Given the description of an element on the screen output the (x, y) to click on. 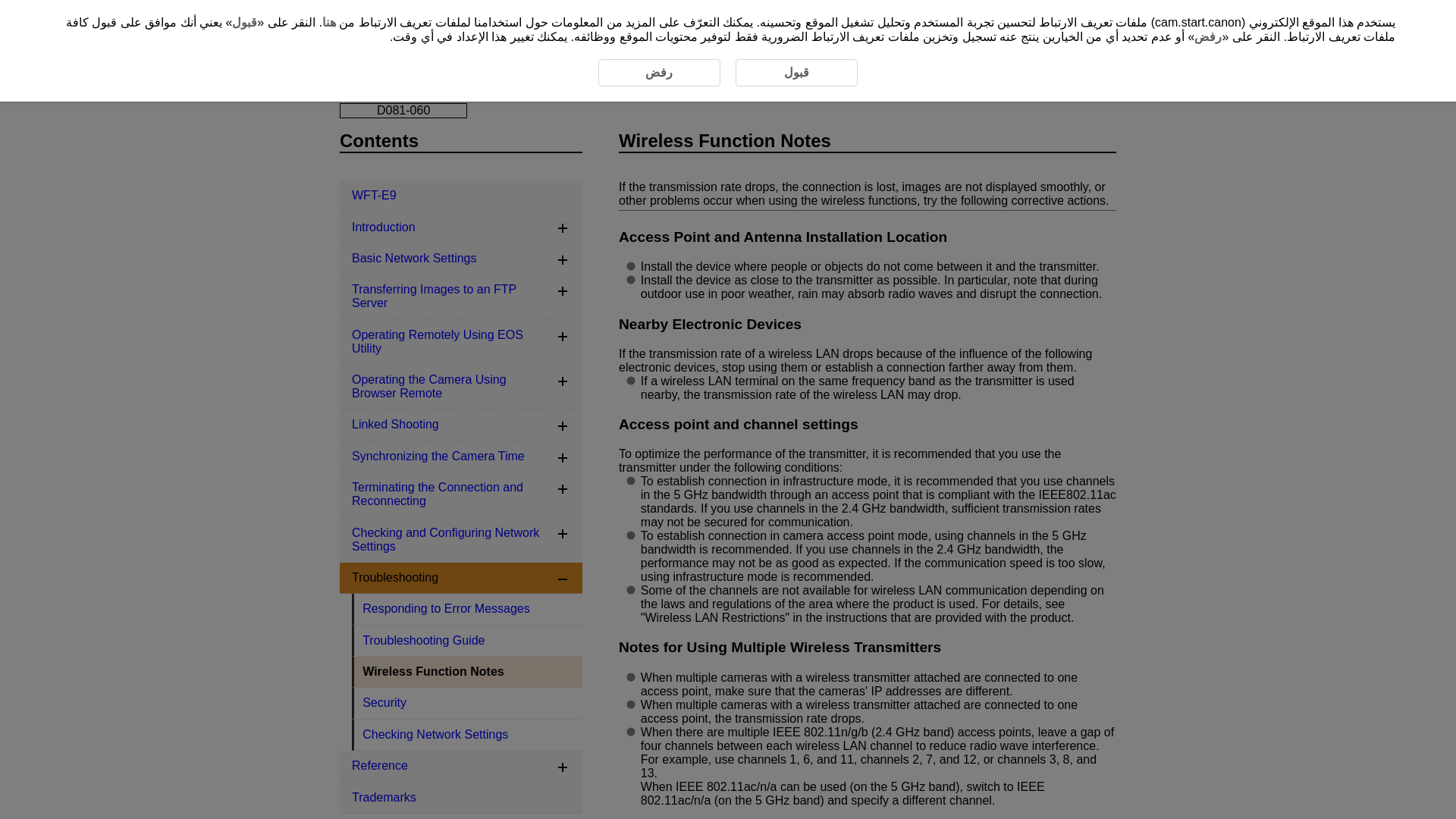
Basic Network Settings (460, 258)
Troubleshooting (454, 71)
Transferring Images to an FTP Server (460, 296)
WFT-E9 (361, 71)
WFT-E9 (460, 195)
Introduction (460, 226)
Operating Remotely Using EOS Utility (460, 342)
